Given the description of an element on the screen output the (x, y) to click on. 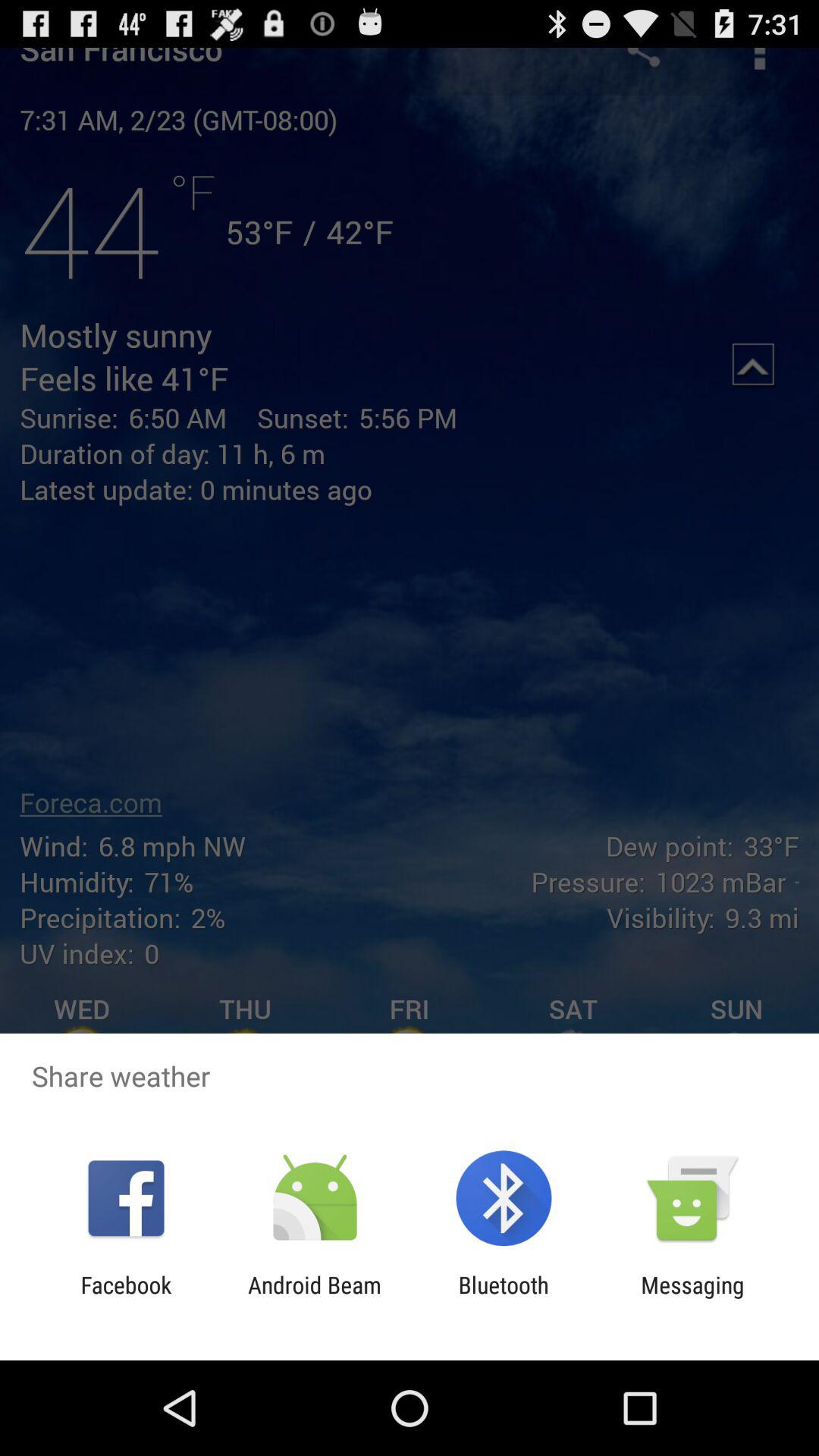
tap the messaging icon (692, 1298)
